Given the description of an element on the screen output the (x, y) to click on. 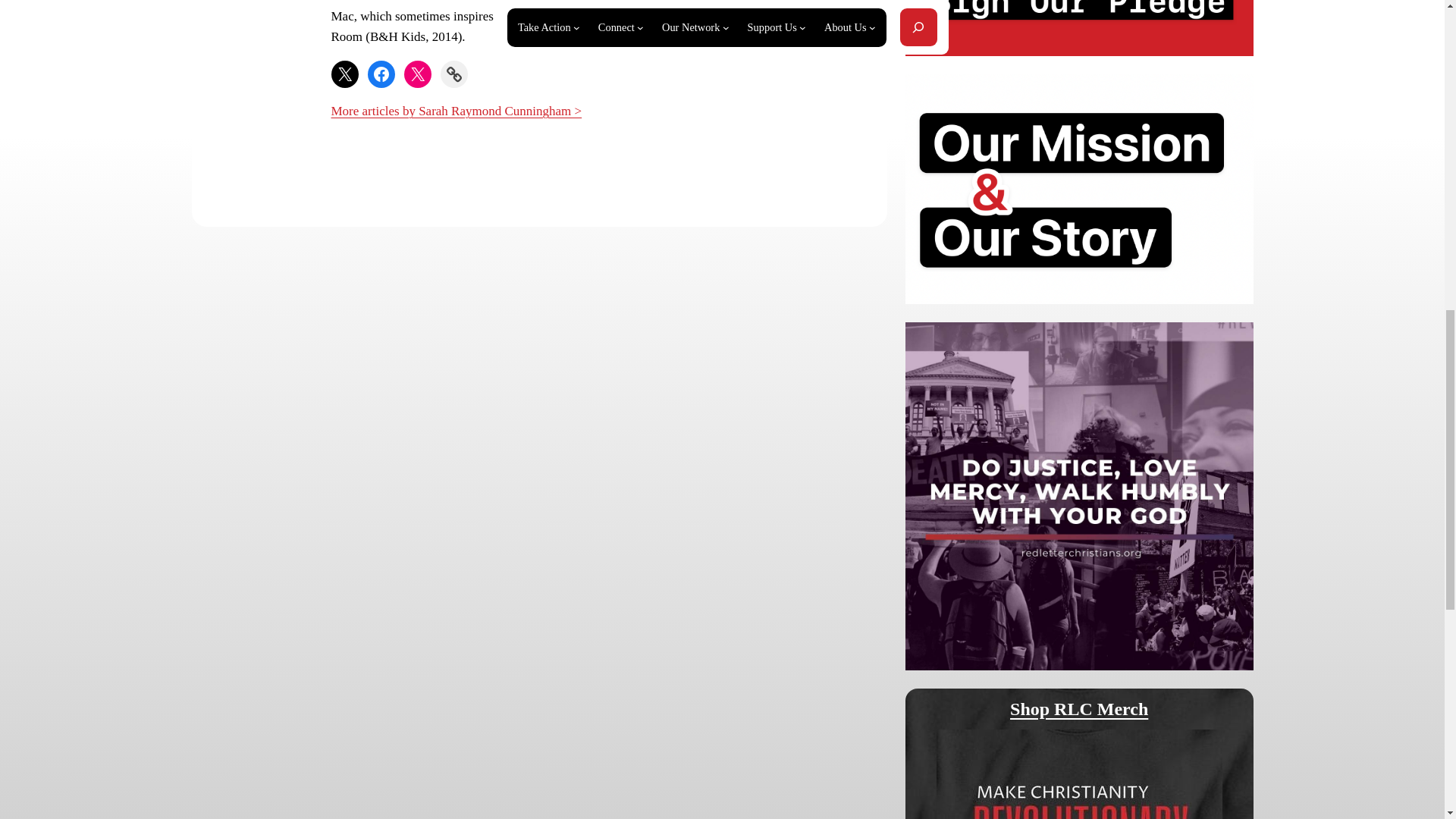
Twitter (344, 73)
Facebook (380, 73)
Instagram (416, 73)
Website (453, 73)
